Given the description of an element on the screen output the (x, y) to click on. 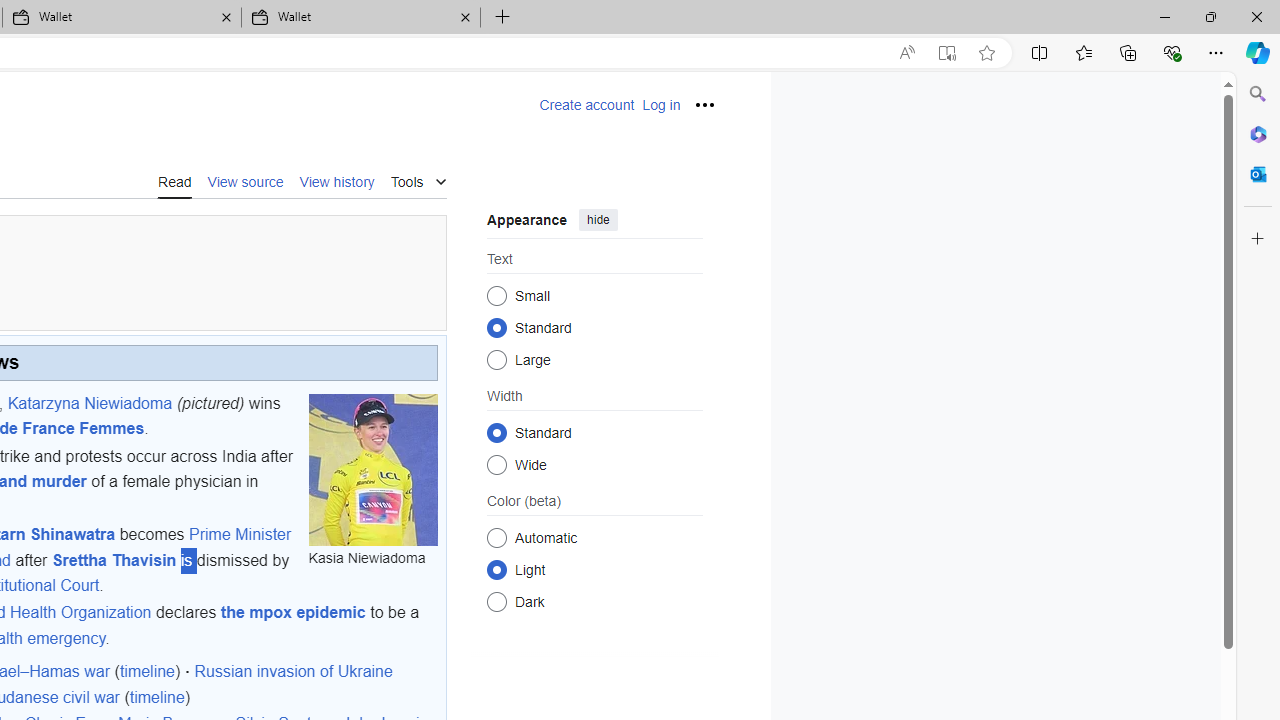
Srettha Thavisin (113, 559)
Class: mw-list-item mw-list-item-js (594, 569)
